Given the description of an element on the screen output the (x, y) to click on. 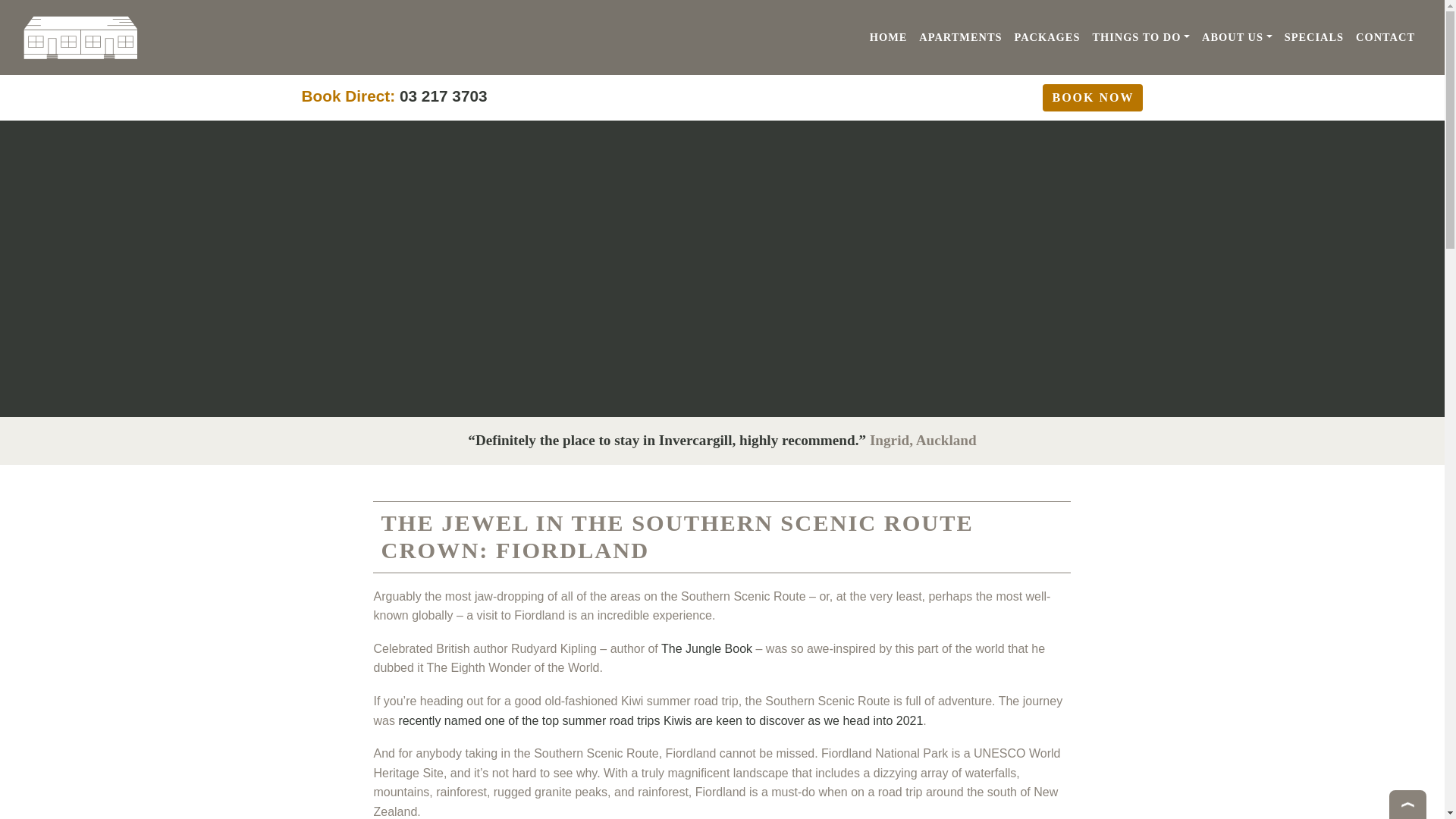
HOME (888, 38)
SPECIALS (1313, 38)
03 217 3703 (442, 95)
CONTACT (1385, 38)
ABOUT US (1236, 38)
APARTMENTS (959, 38)
THINGS TO DO (1140, 38)
BOOK NOW (1092, 97)
PACKAGES (1047, 38)
